Given the description of an element on the screen output the (x, y) to click on. 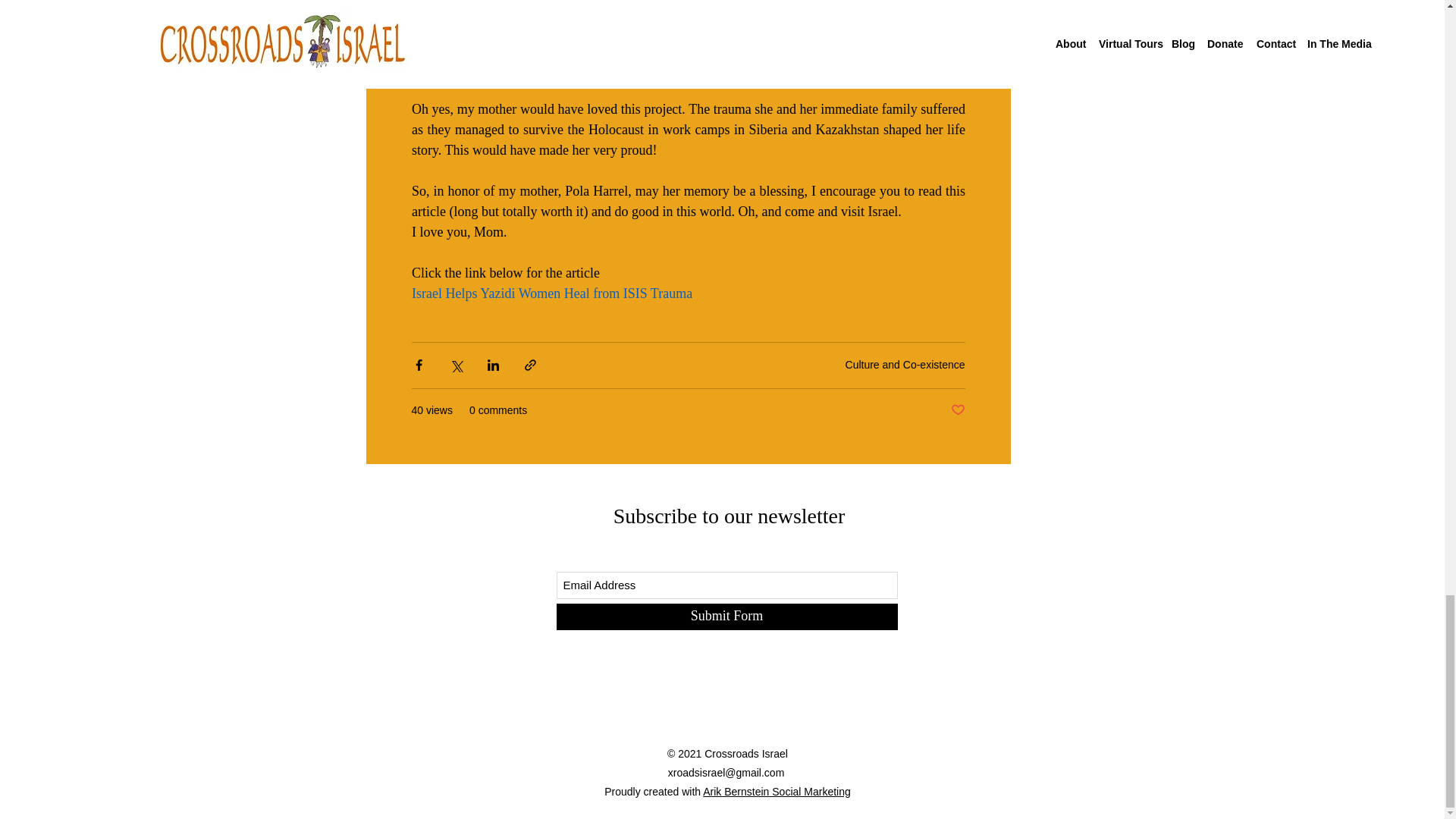
Submit Form (727, 616)
Arik Bernstein Social Marketing (776, 791)
Culture and Co-existence (905, 364)
Israel Helps Yazidi Women Heal from ISIS Trauma (550, 292)
Post not marked as liked (957, 409)
